Given the description of an element on the screen output the (x, y) to click on. 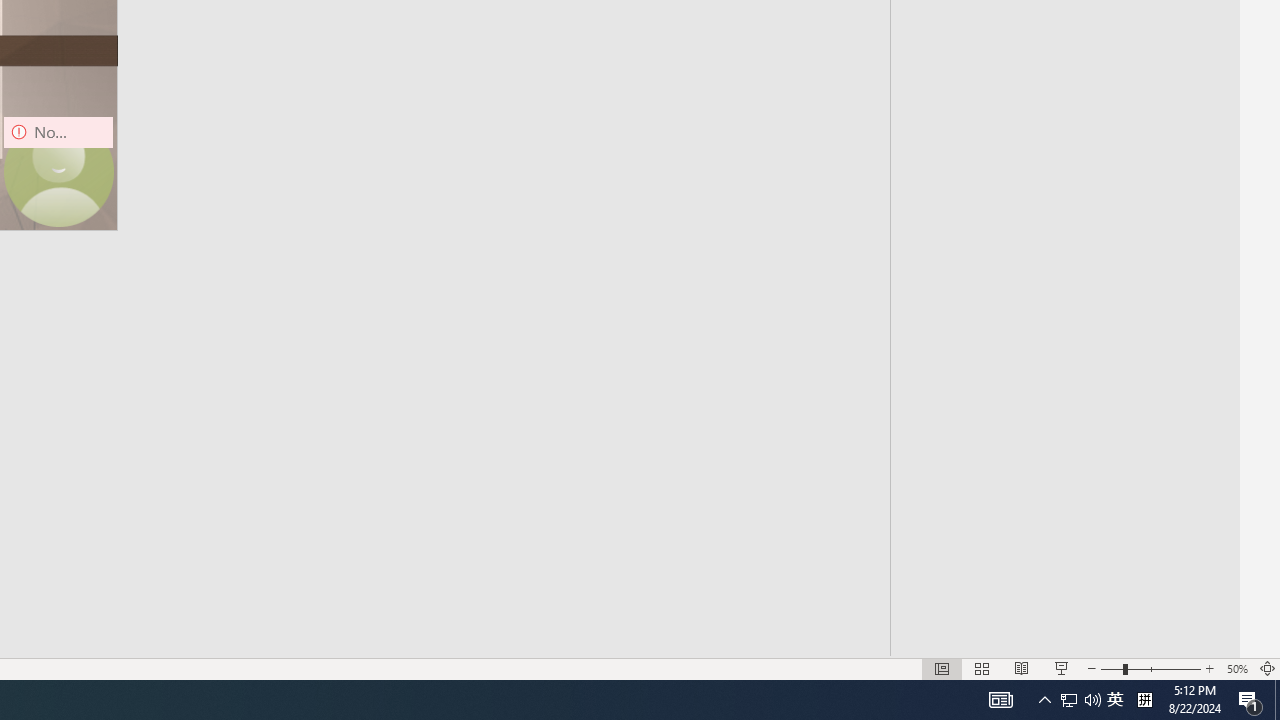
Zoom 50% (1236, 668)
